Given the description of an element on the screen output the (x, y) to click on. 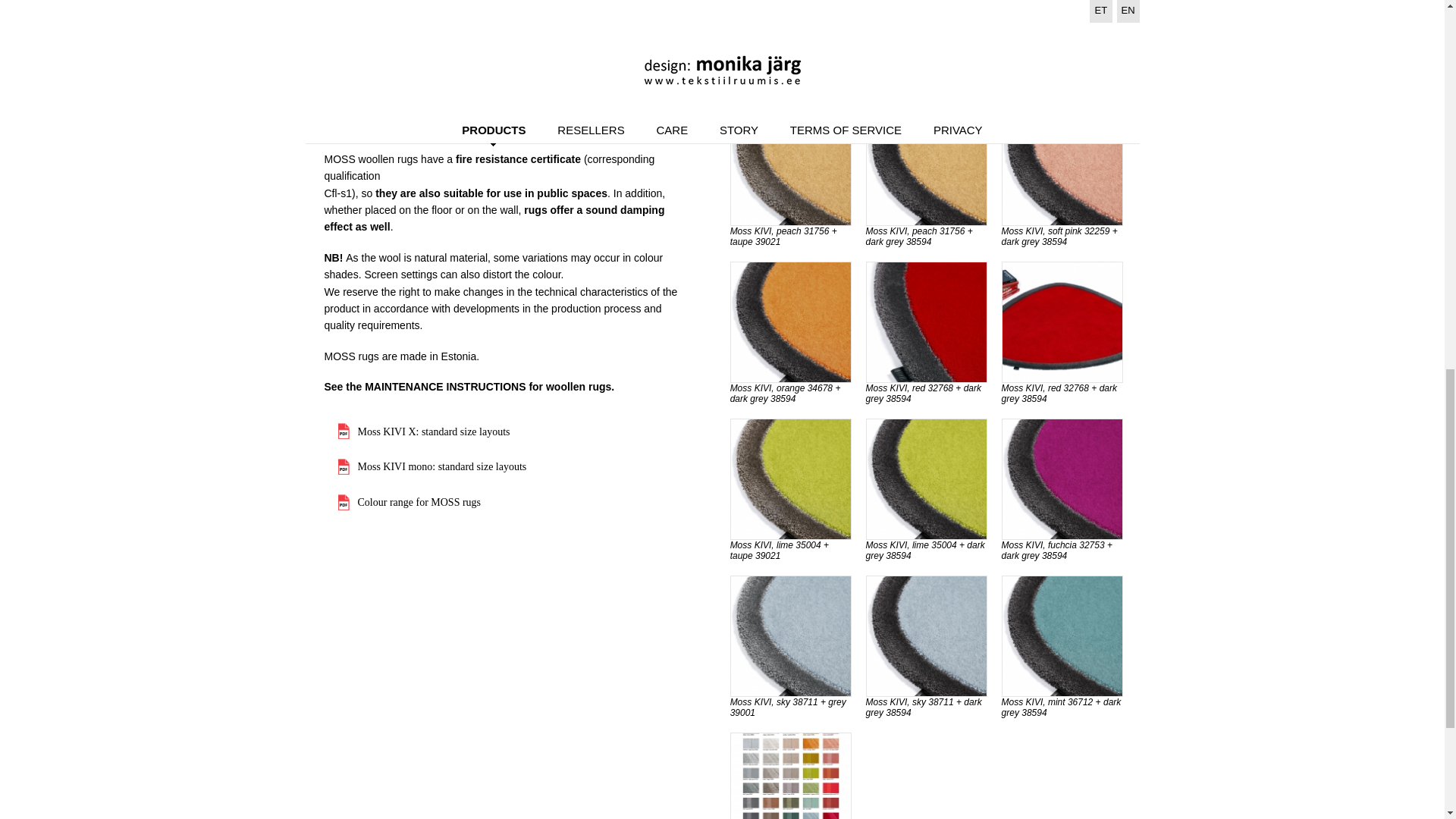
Moss KIVI mono: standard size layouts (432, 466)
See the MAINTENANCE INSTRUCTIONS for woollen rugs. (469, 386)
Colour range for MOSS rugs (409, 502)
Moss KIVI X: standard size layouts (424, 431)
